Given the description of an element on the screen output the (x, y) to click on. 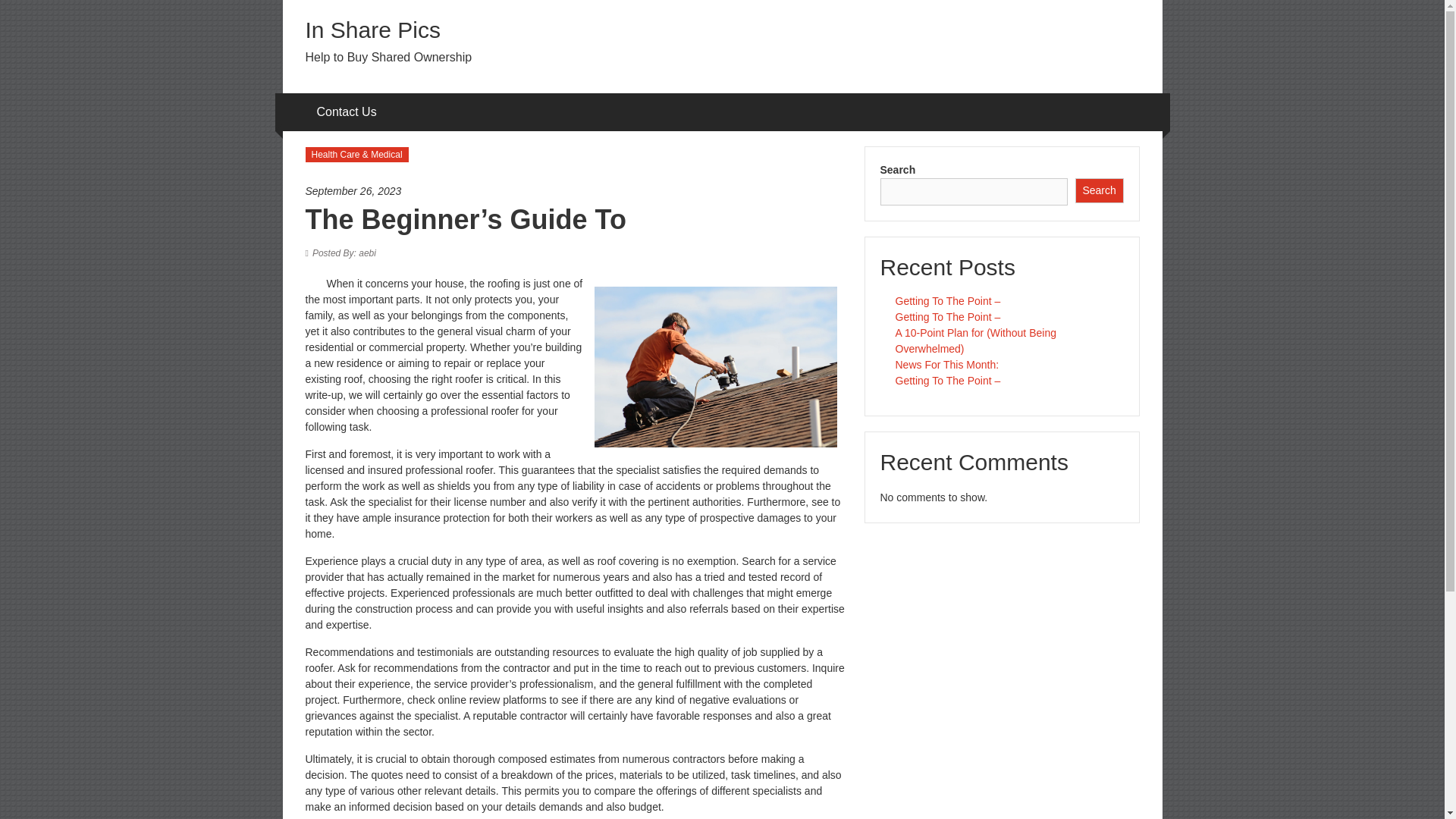
Posted By: aebi (344, 253)
Contact Us (347, 112)
In Share Pics (371, 29)
Search (1099, 190)
In Share Pics (371, 29)
News For This Month: (946, 364)
aebi (344, 253)
September 26, 2023 (575, 191)
12:42 pm (575, 191)
